Given the description of an element on the screen output the (x, y) to click on. 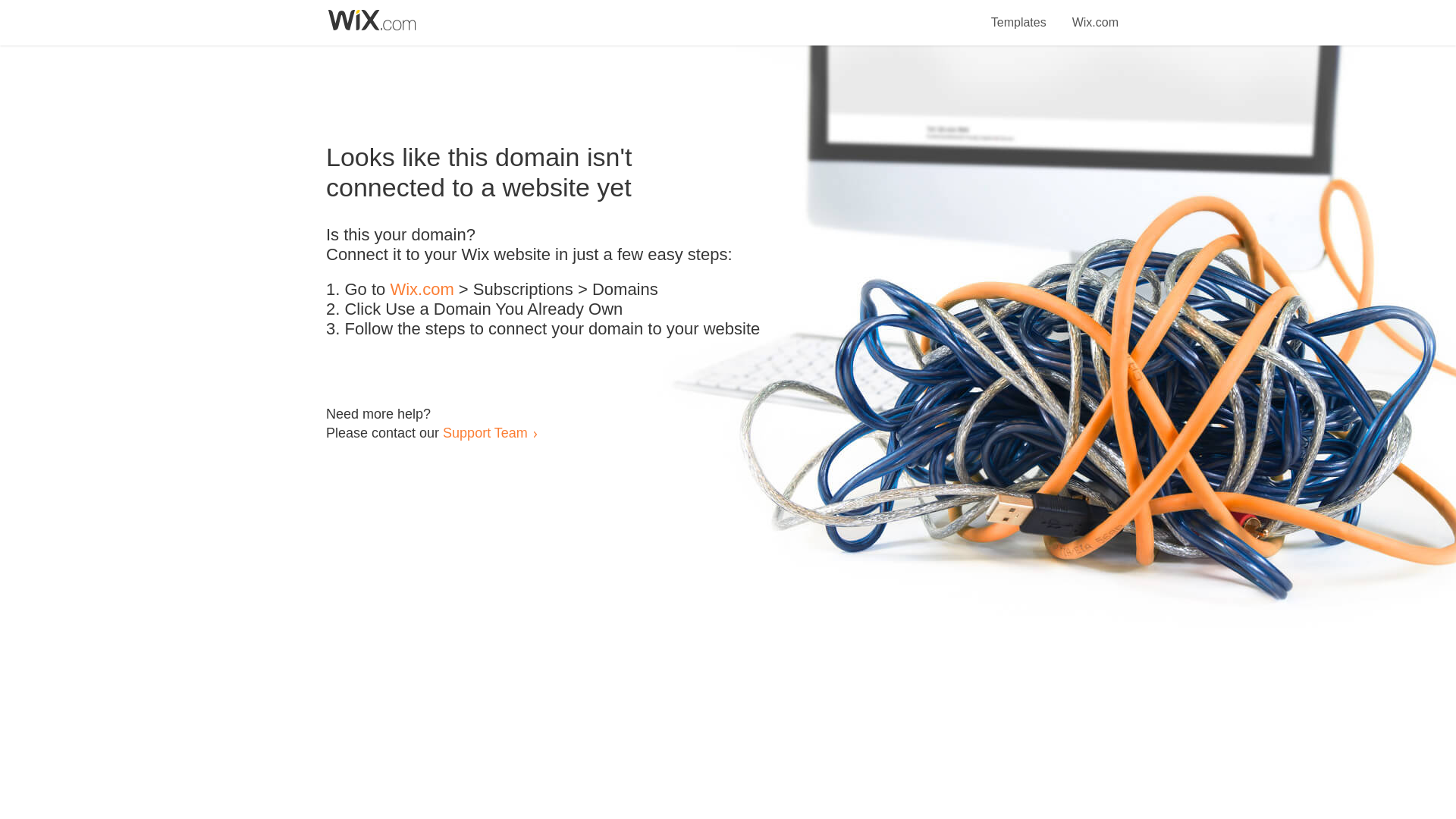
Support Team (484, 432)
Wix.com (421, 289)
Templates (1018, 14)
Wix.com (1095, 14)
